Given the description of an element on the screen output the (x, y) to click on. 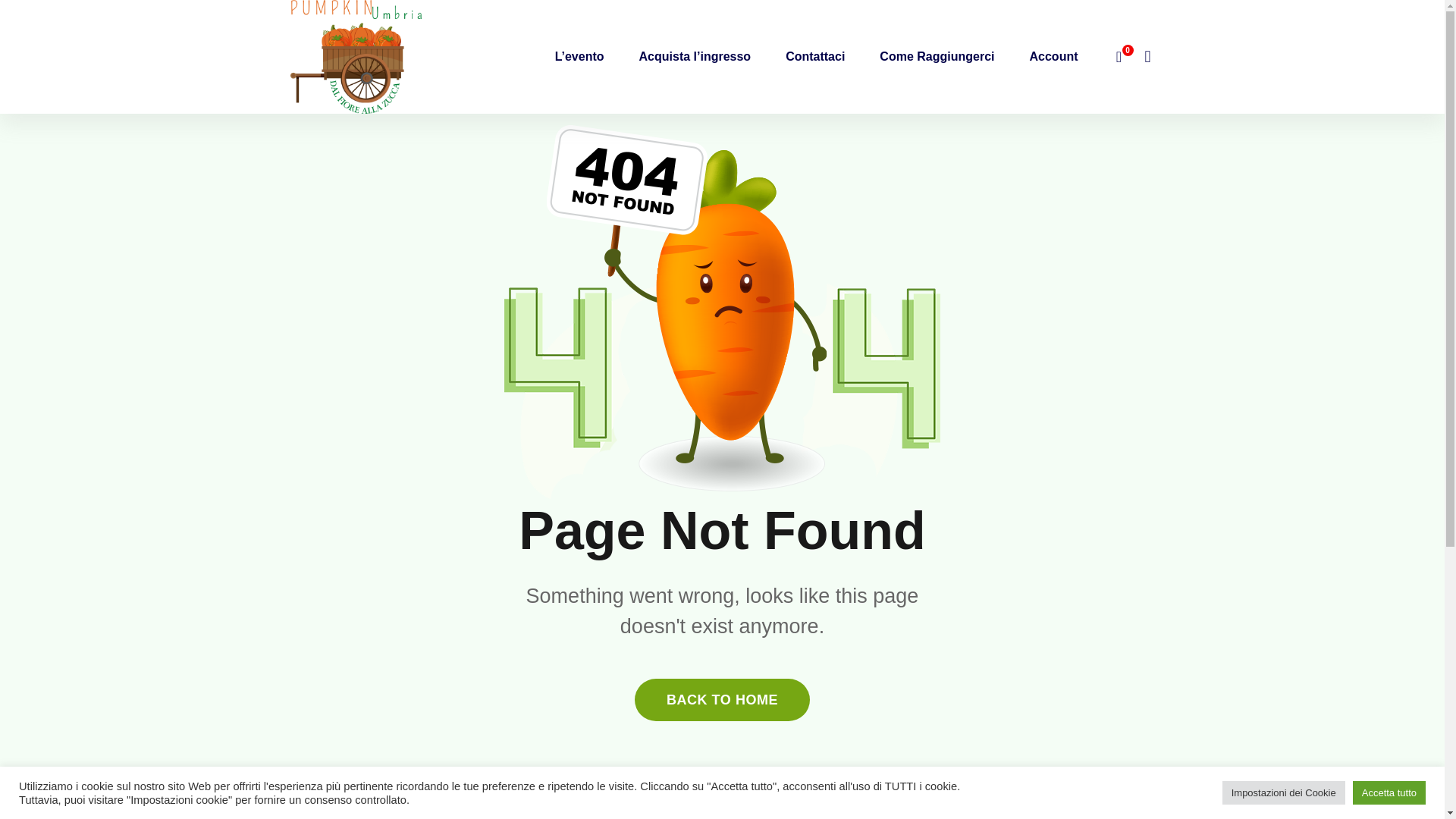
Impostazioni dei Cookie (1284, 792)
Come Raggiungerci (936, 56)
Pumpkin Umbria (355, 55)
Contattaci (814, 56)
BACK TO HOME (721, 699)
Account (1054, 56)
Accetta tutto (1388, 792)
